Given the description of an element on the screen output the (x, y) to click on. 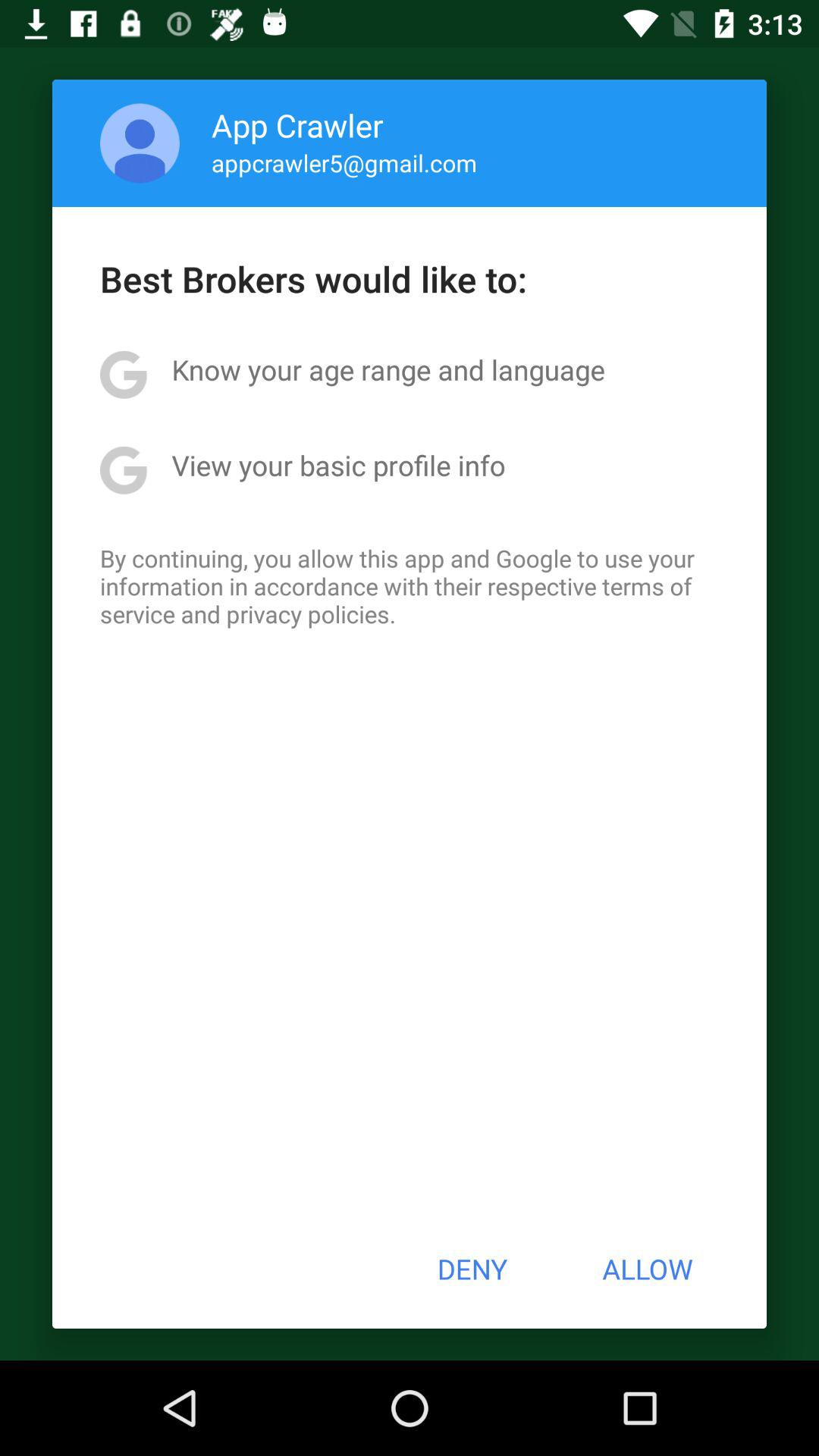
open icon above the view your basic app (388, 369)
